Given the description of an element on the screen output the (x, y) to click on. 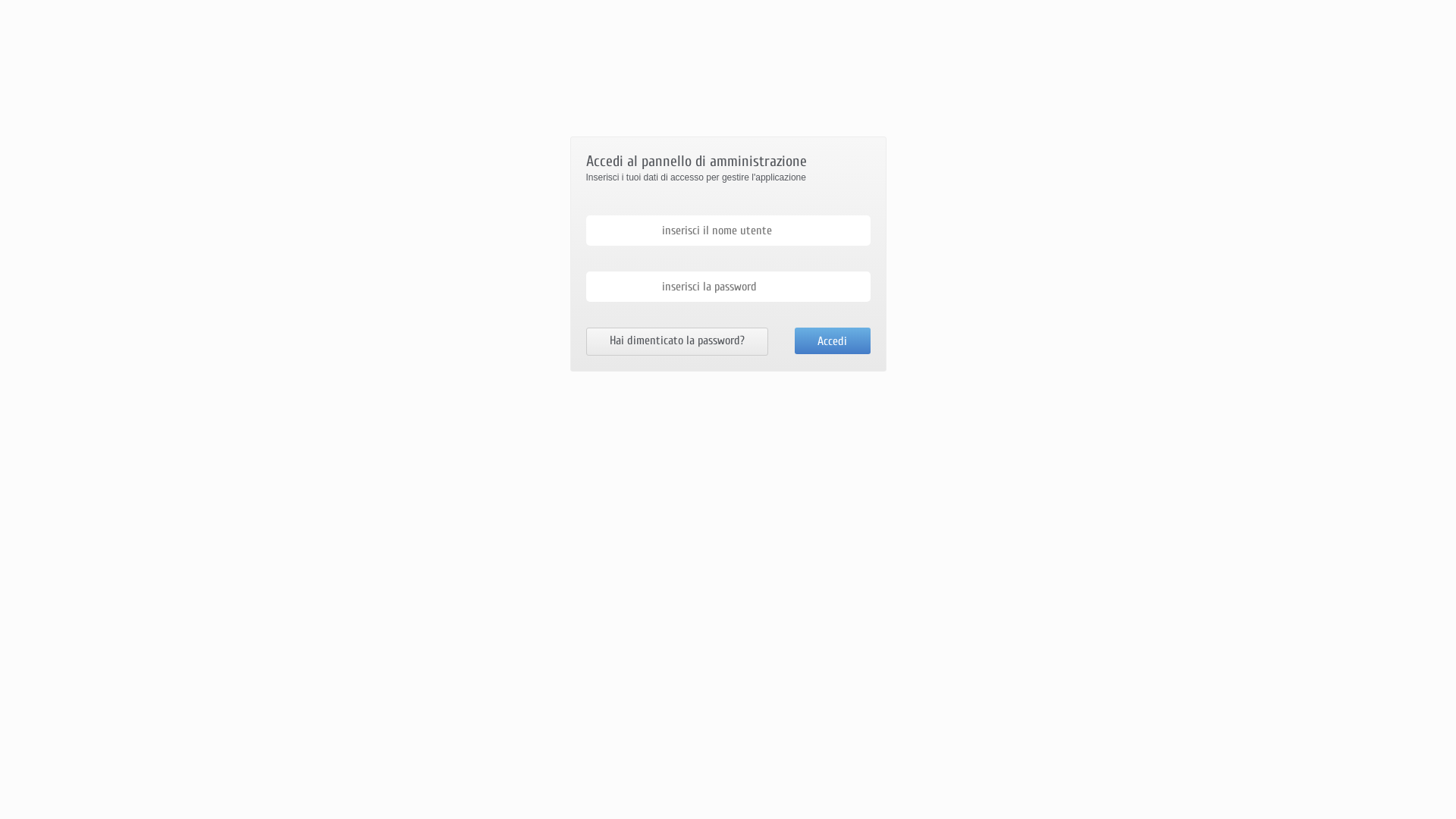
Accedi Element type: text (832, 340)
Hai dimenticato la password? Element type: text (676, 341)
